Given the description of an element on the screen output the (x, y) to click on. 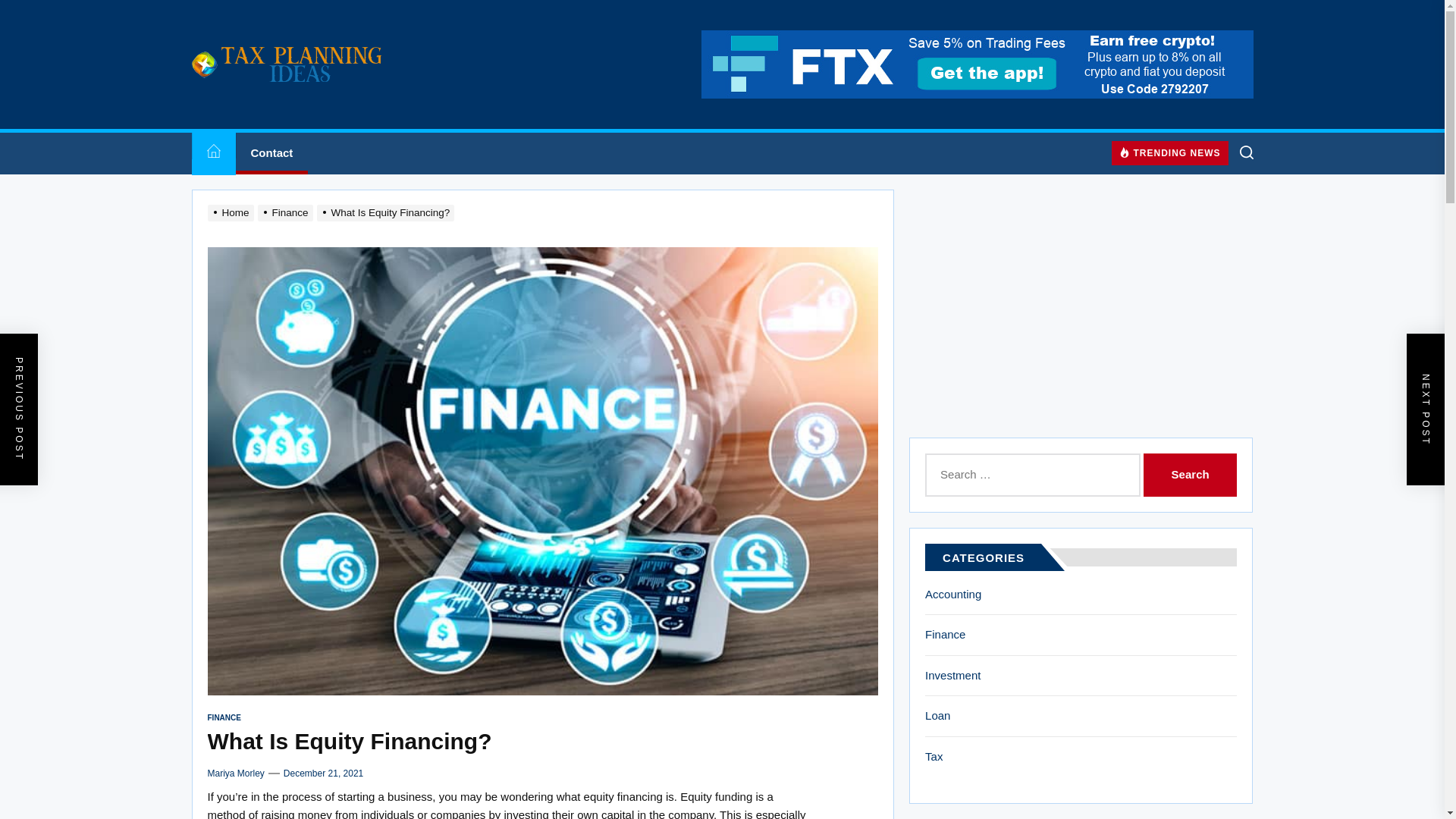
Header AD Image (976, 64)
Contact (270, 153)
Home (232, 211)
Search (1189, 474)
Home (212, 153)
Finance (287, 211)
TRENDING NEWS (1170, 153)
Search (1189, 474)
